Given the description of an element on the screen output the (x, y) to click on. 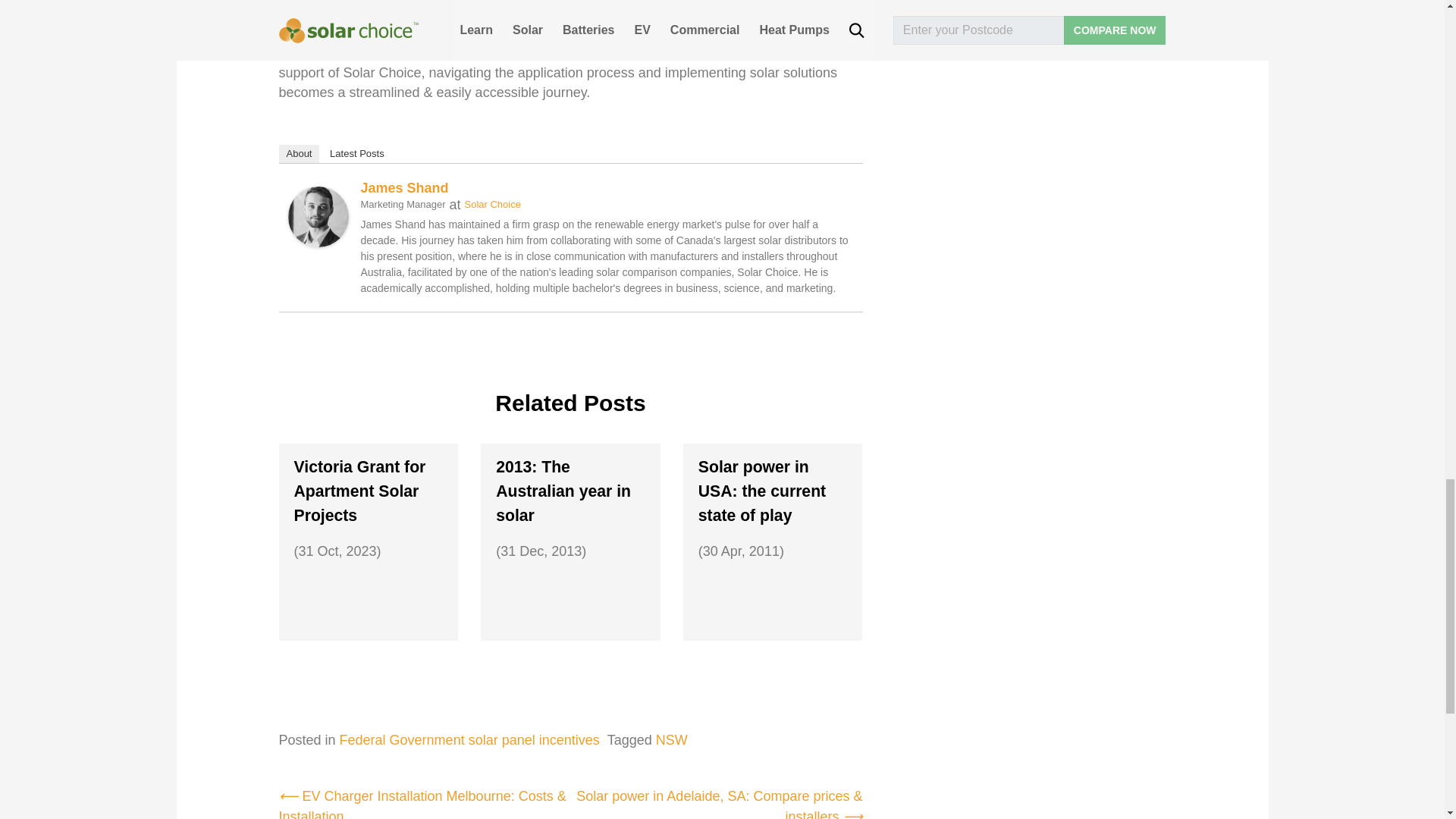
2013: The Australian year in solar (570, 490)
James Shand (318, 205)
Solar power in USA: the current state of play (772, 490)
Victoria Grant for Apartment Solar Projects (369, 490)
